Given the description of an element on the screen output the (x, y) to click on. 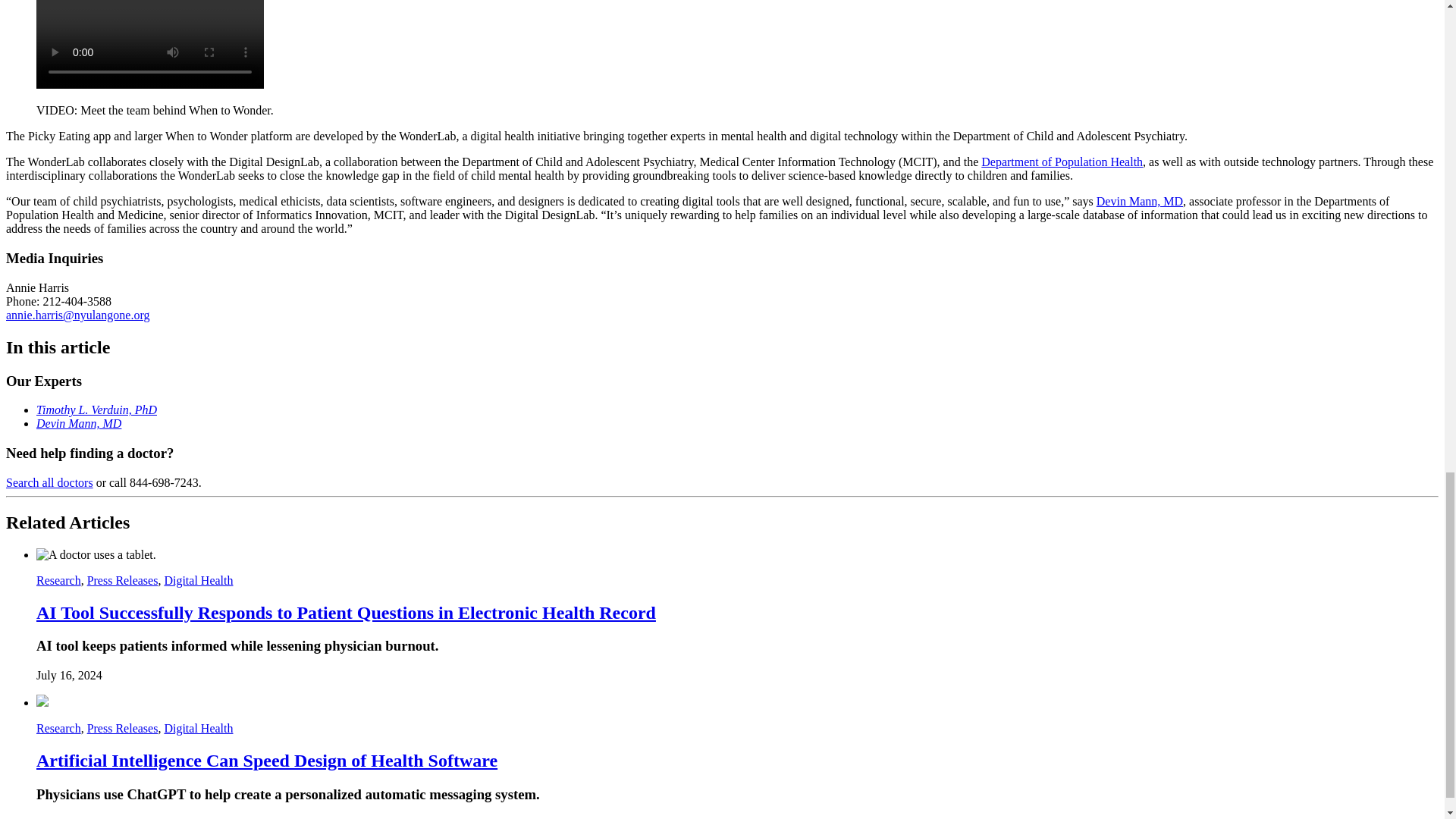
Devin Mann, MD (1139, 201)
Research (58, 580)
Artificial Intelligence Can Speed Design of Health Software (266, 760)
Timothy L. Verduin, PhD (96, 409)
Digital Health (197, 727)
Department of Population Health (1061, 161)
Digital Health (197, 580)
Press Releases (122, 727)
Research (58, 727)
Press Releases (122, 580)
Search all doctors (49, 481)
Devin Mann, MD (78, 422)
